Given the description of an element on the screen output the (x, y) to click on. 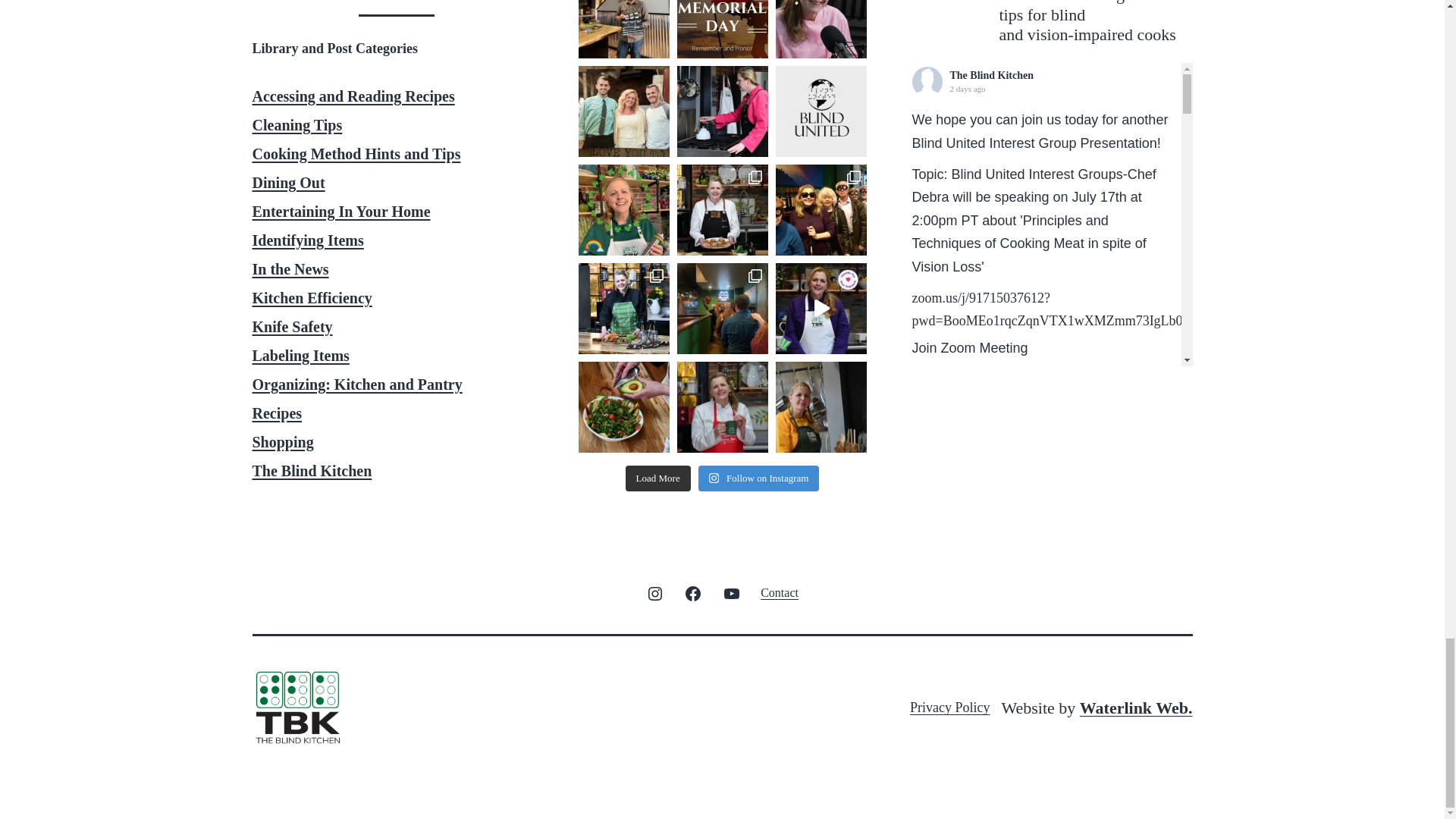
View on Facebook (942, 633)
Share (997, 633)
